Given the description of an element on the screen output the (x, y) to click on. 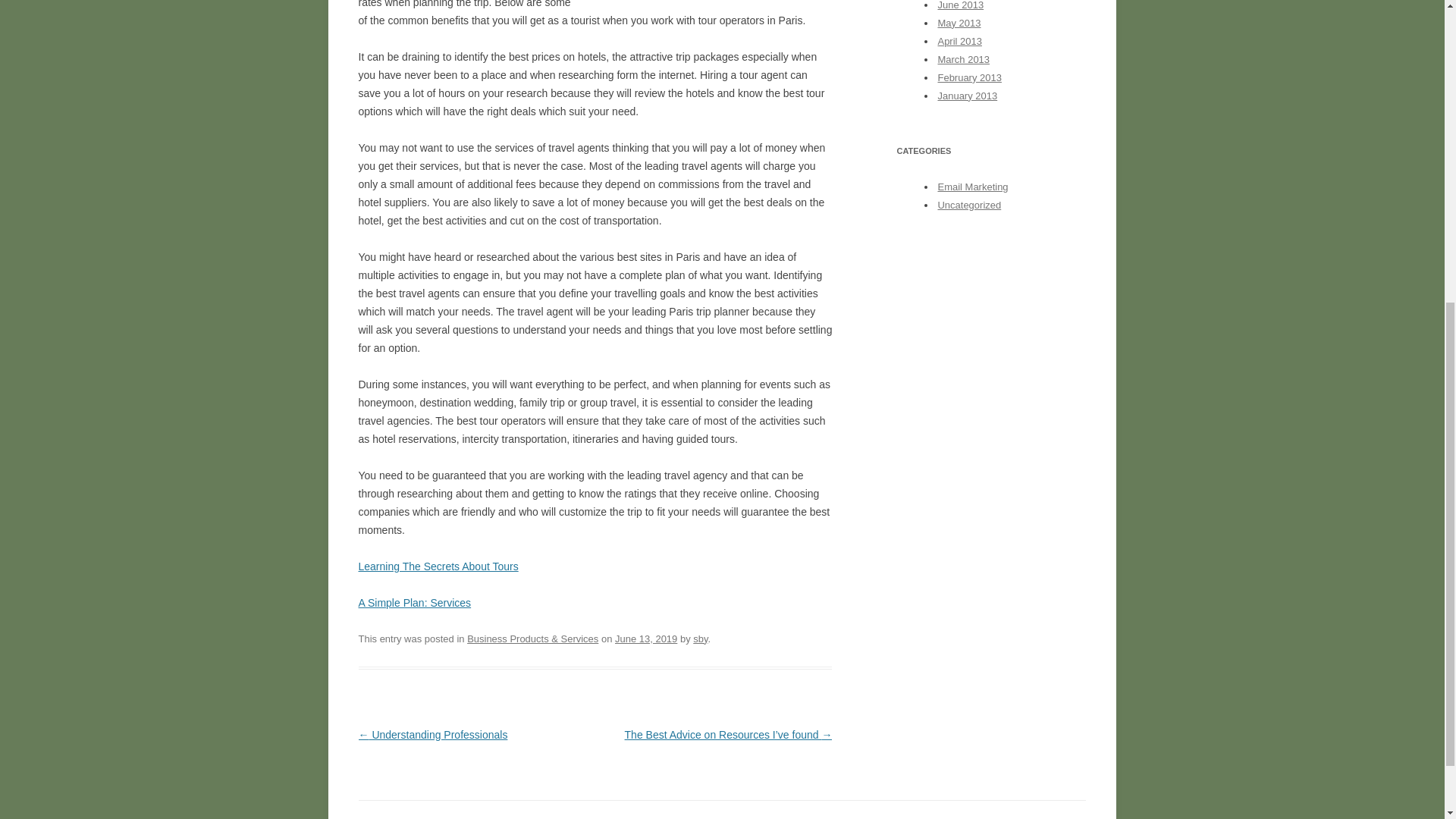
March 2013 (963, 59)
June 2013 (960, 5)
January 2013 (967, 95)
April 2013 (959, 41)
June 2013 (960, 5)
May 2013 (958, 22)
View all posts by sby (700, 638)
April 2013 (959, 41)
Learning The Secrets About Tours (438, 566)
March 2013 (963, 59)
Uncategorized (969, 204)
sby (700, 638)
Email Marketing (972, 186)
View all posts filed under Email Marketing (972, 186)
February 2013 (969, 77)
